Given the description of an element on the screen output the (x, y) to click on. 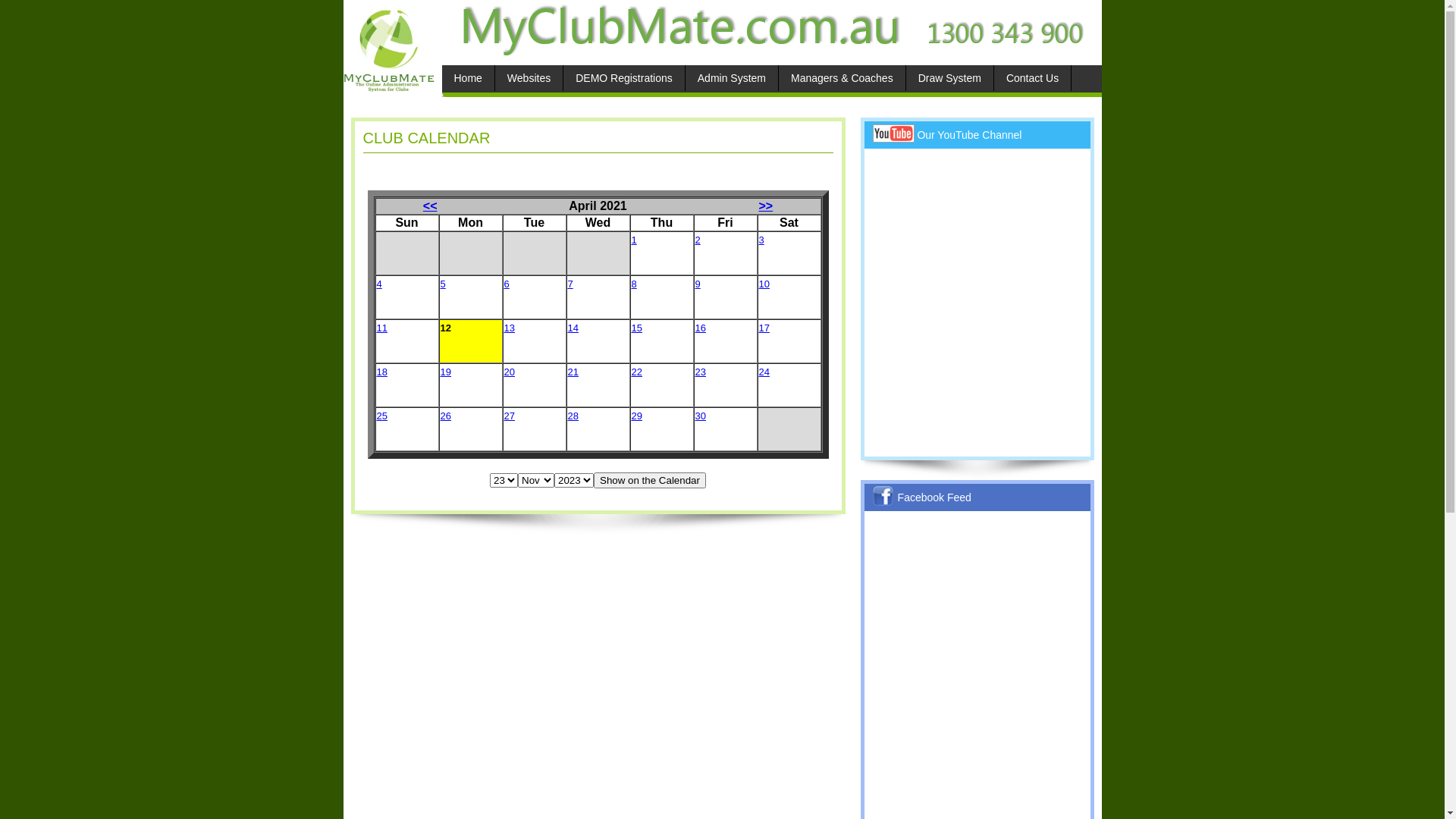
10 Element type: text (763, 282)
Draw System Element type: text (949, 78)
Websites Element type: text (528, 78)
15 Element type: text (635, 326)
Admin System Element type: text (731, 78)
1 Element type: text (633, 238)
<< Element type: text (430, 205)
29 Element type: text (635, 414)
25 Element type: text (381, 414)
logo Element type: hover (387, 45)
23 Element type: text (699, 370)
16 Element type: text (699, 326)
26 Element type: text (444, 414)
2 Element type: text (696, 238)
3 Element type: text (760, 238)
19 Element type: text (444, 370)
4 Element type: text (378, 282)
18 Element type: text (381, 370)
9 Element type: text (696, 282)
Contact Us Element type: text (1032, 78)
Show on the Calendar Element type: text (649, 480)
5 Element type: text (442, 282)
28 Element type: text (572, 414)
30 Element type: text (699, 414)
6 Element type: text (505, 282)
8 Element type: text (633, 282)
banner Element type: hover (767, 29)
DEMO Registrations Element type: text (623, 78)
20 Element type: text (508, 370)
Home Element type: text (467, 78)
13 Element type: text (508, 326)
17 Element type: text (763, 326)
Managers & Coaches Element type: text (841, 78)
27 Element type: text (508, 414)
14 Element type: text (572, 326)
24 Element type: text (763, 370)
21 Element type: text (572, 370)
11 Element type: text (381, 326)
7 Element type: text (569, 282)
22 Element type: text (635, 370)
>> Element type: text (765, 205)
